Given the description of an element on the screen output the (x, y) to click on. 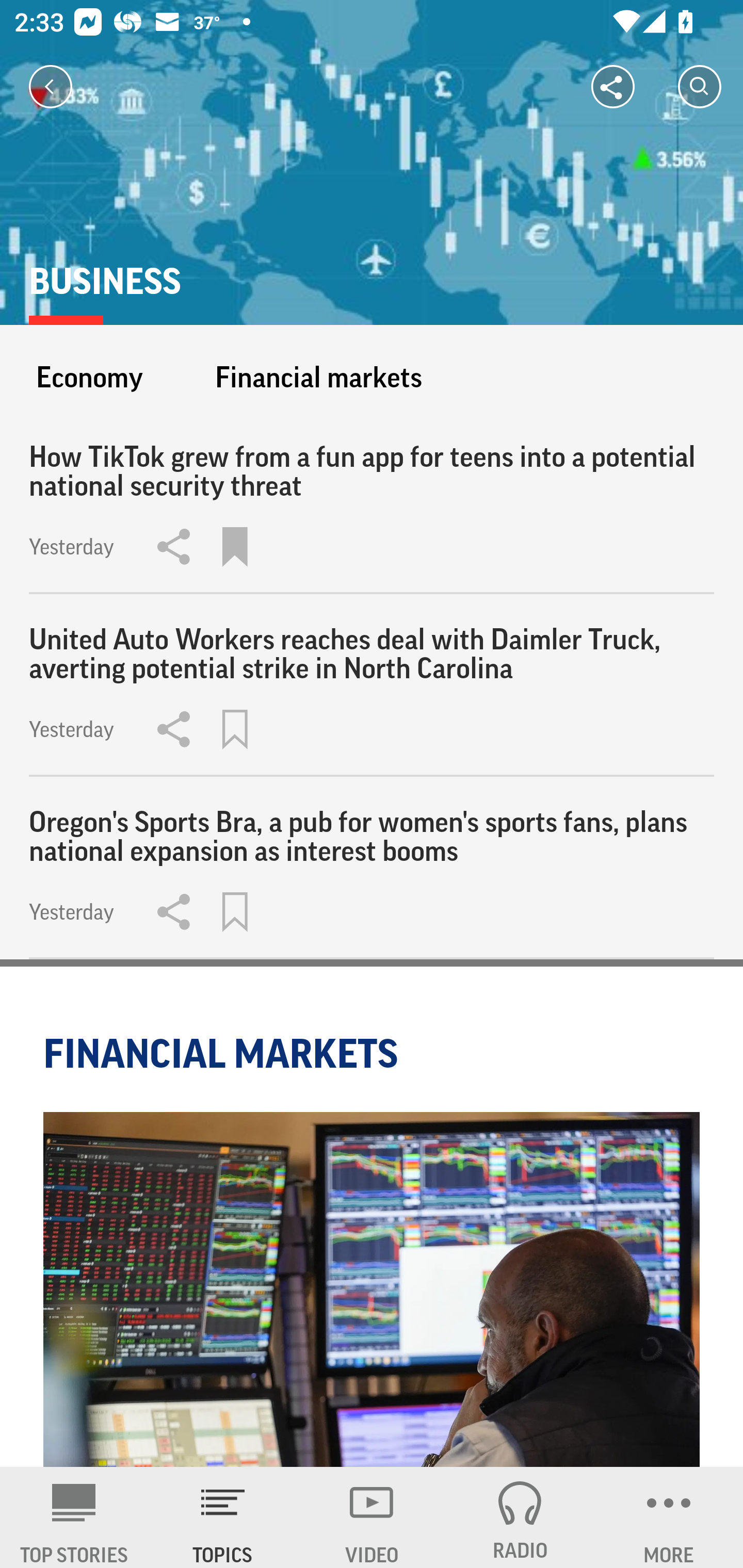
Economy (89, 376)
Financial markets (317, 376)
FINANCIAL MARKETS (223, 1053)
AP News TOP STORIES (74, 1517)
TOPICS (222, 1517)
VIDEO (371, 1517)
RADIO (519, 1517)
MORE (668, 1517)
